Given the description of an element on the screen output the (x, y) to click on. 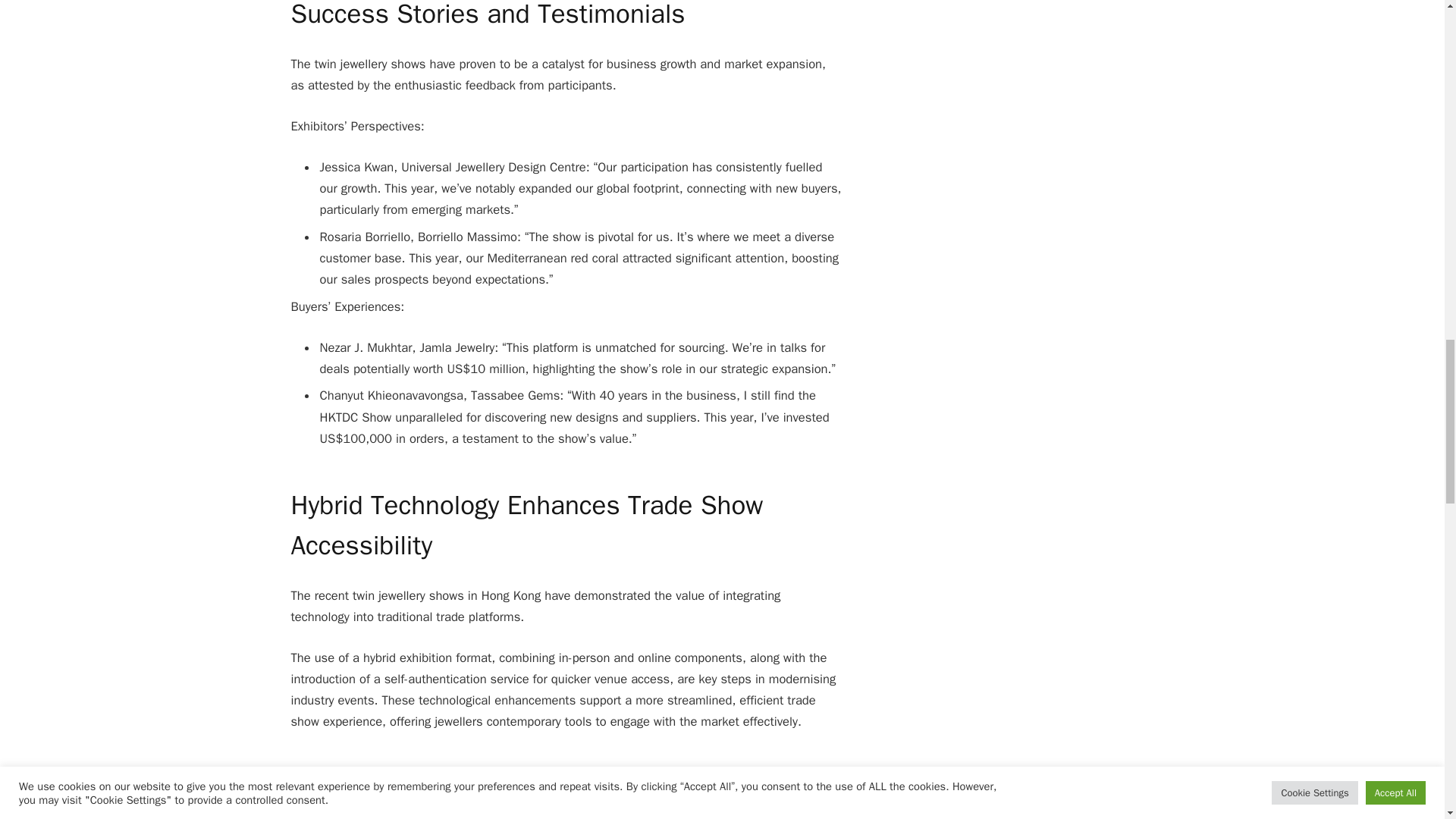
Share on Twitter (625, 786)
Facebook (572, 786)
Share on Pinterest (678, 786)
Twitter (625, 786)
LinkedIn (731, 786)
Tumblr (784, 786)
Pinterest (678, 786)
Share on LinkedIn (731, 786)
Share on Facebook (572, 786)
Email (837, 786)
